Given the description of an element on the screen output the (x, y) to click on. 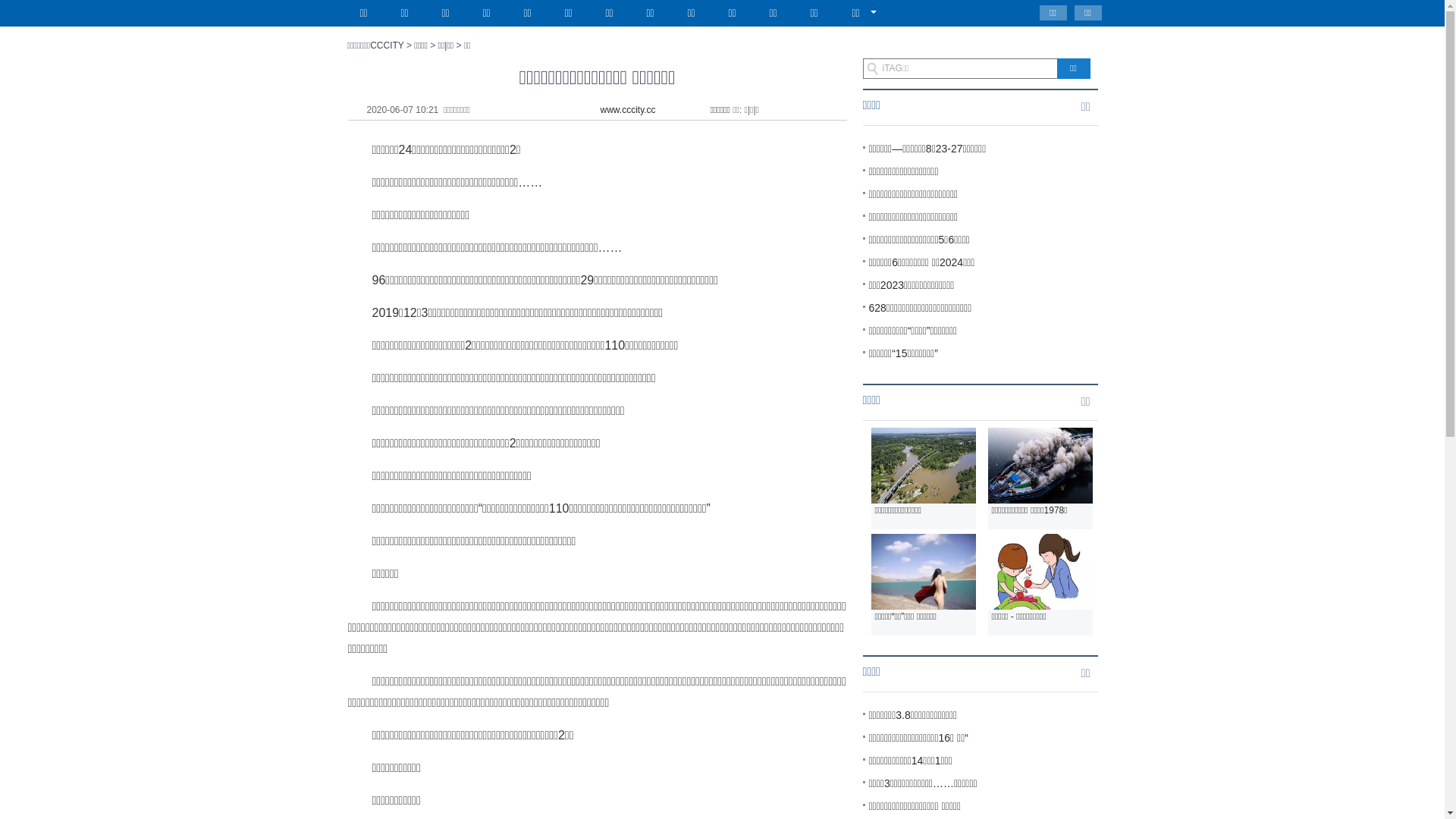
CCCITY Element type: text (386, 45)
www.cccity.cc Element type: text (627, 109)
